Given the description of an element on the screen output the (x, y) to click on. 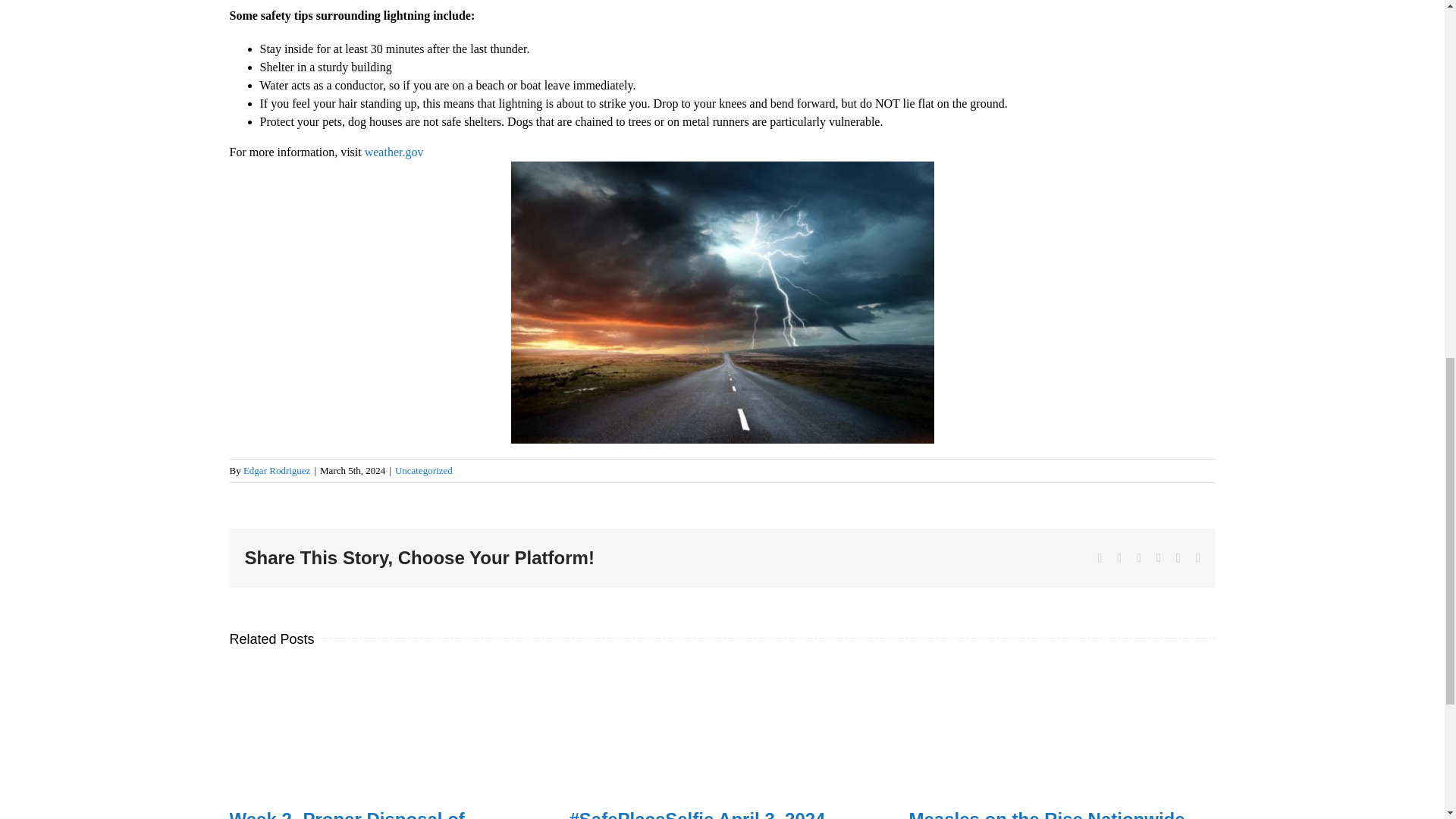
Week 2- Proper Disposal of Hazardous Materials (346, 814)
weather.gov (394, 151)
Week 2- Proper Disposal of Hazardous Materials (346, 814)
Uncategorized (423, 470)
Edgar Rodriguez (276, 470)
Posts by Edgar Rodriguez (276, 470)
